Given the description of an element on the screen output the (x, y) to click on. 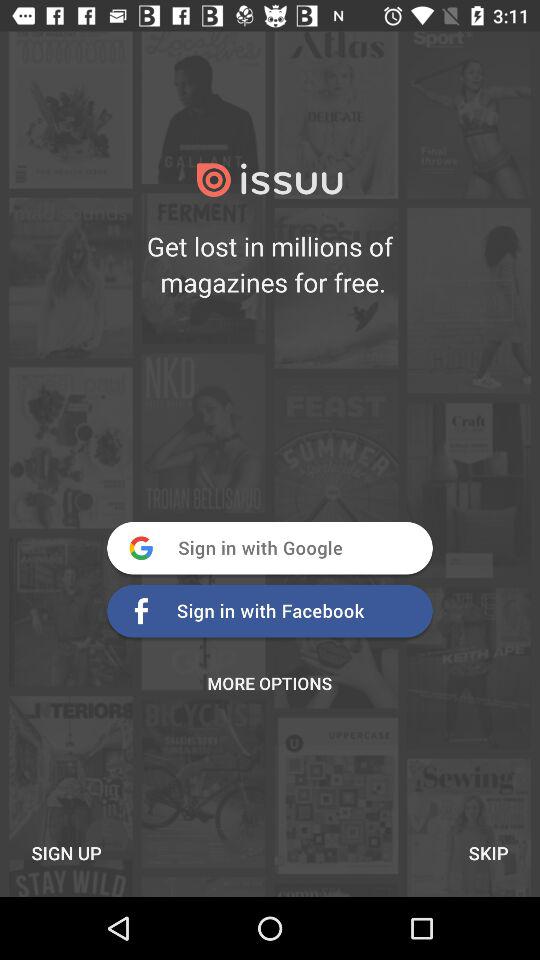
click the item to the left of the skip item (66, 852)
